Given the description of an element on the screen output the (x, y) to click on. 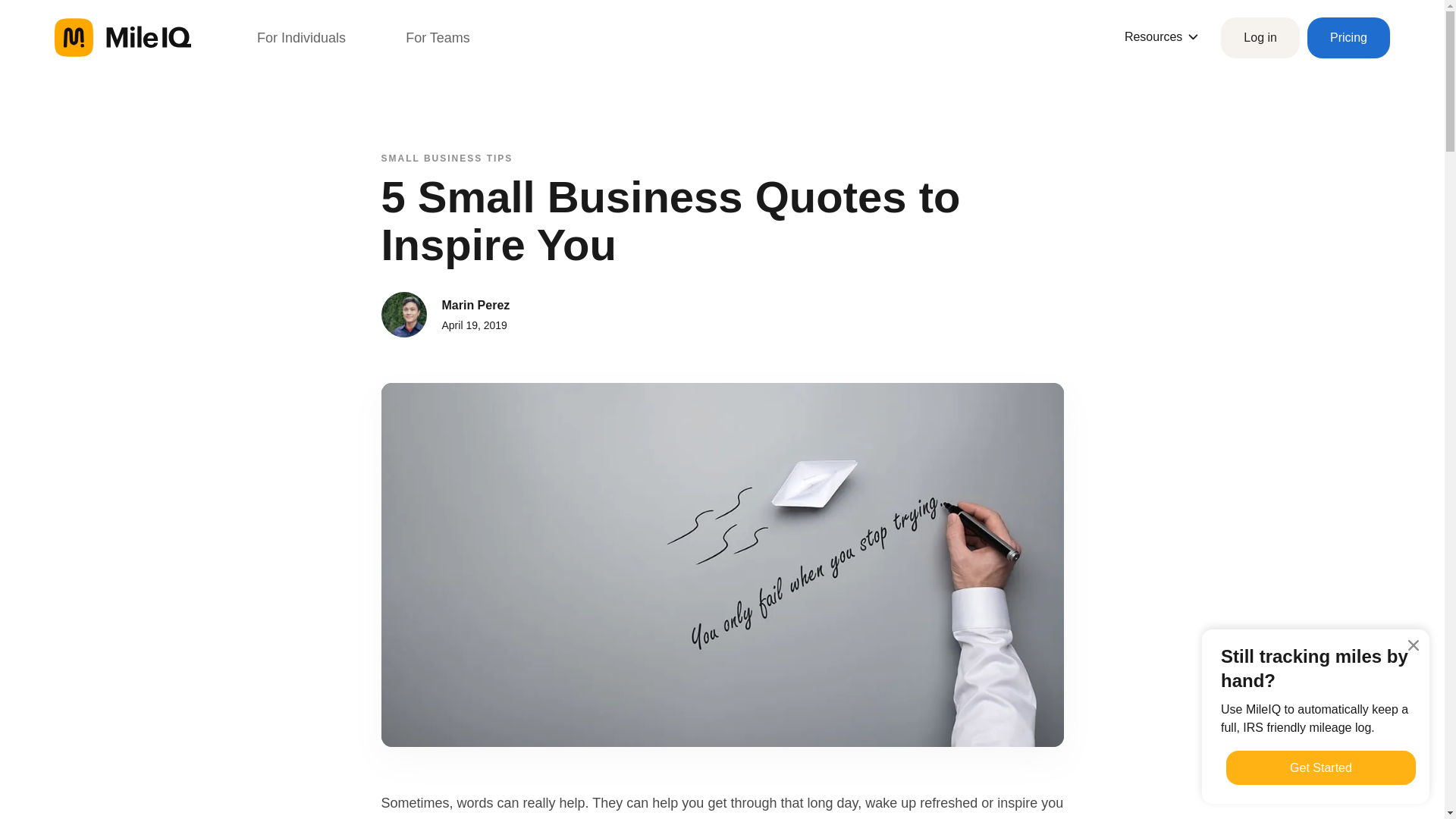
For Teams (437, 37)
Pricing (1348, 37)
For Individuals (300, 37)
Resources (1161, 37)
Get Started (1320, 767)
Log in (1260, 37)
Search (30, 15)
